Given the description of an element on the screen output the (x, y) to click on. 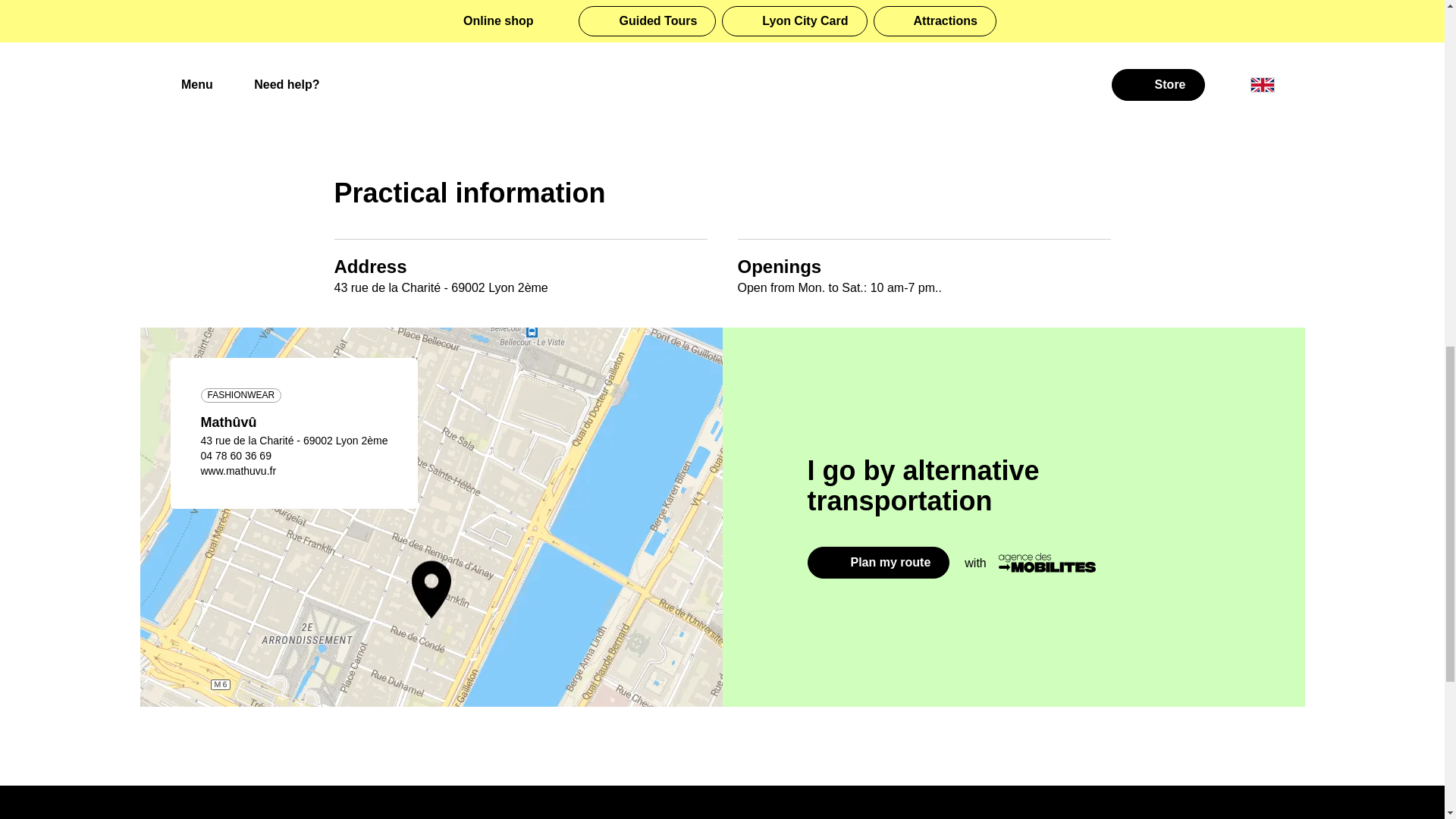
www.mathuvu.fr (238, 470)
Plan my route (877, 562)
04 78 60 36 69 (235, 455)
